Given the description of an element on the screen output the (x, y) to click on. 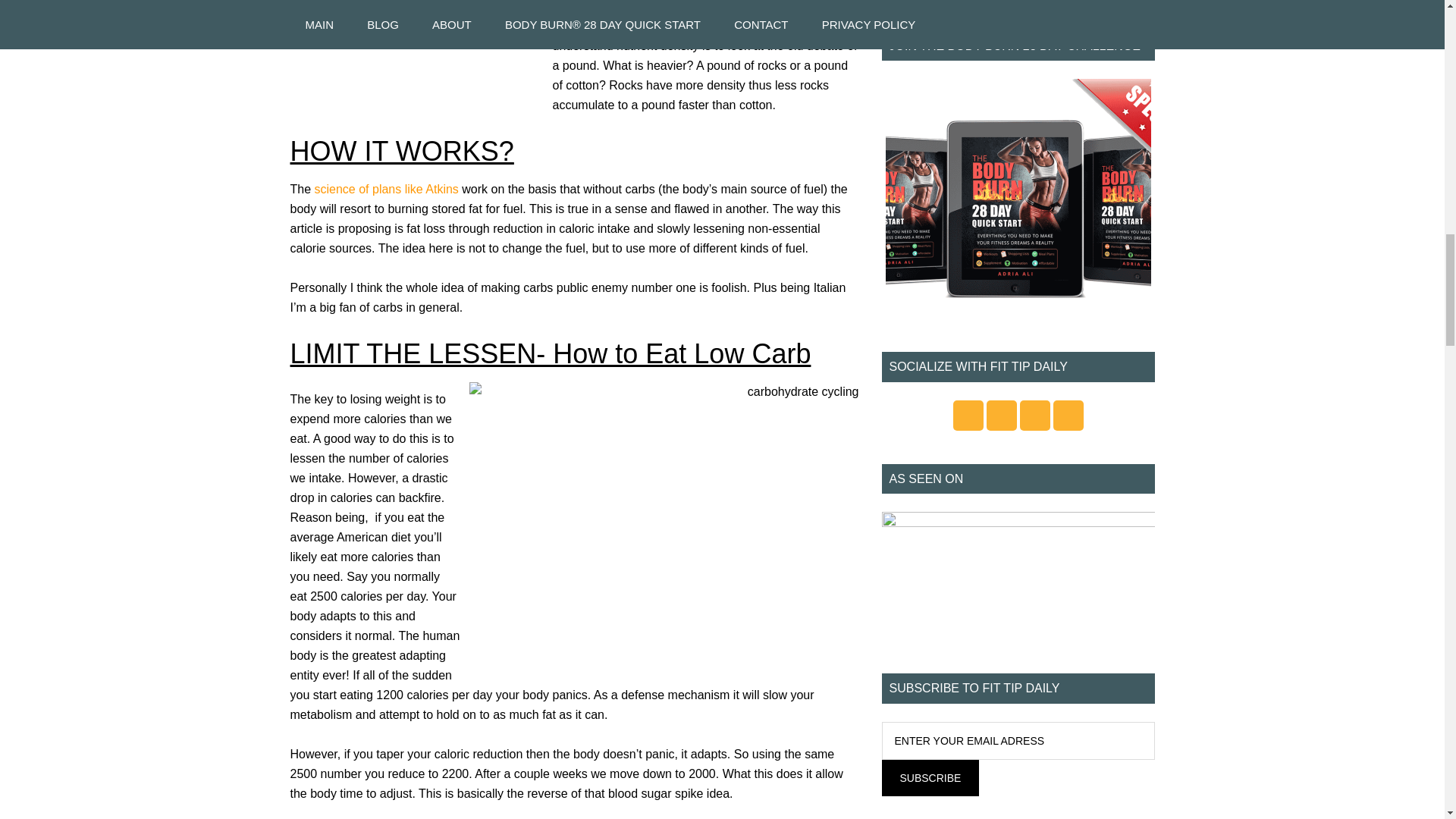
science of plans like Atkins (388, 188)
ENTER YOUR EMAIL ADRESS (1017, 740)
SUBSCRIBE (929, 778)
